Given the description of an element on the screen output the (x, y) to click on. 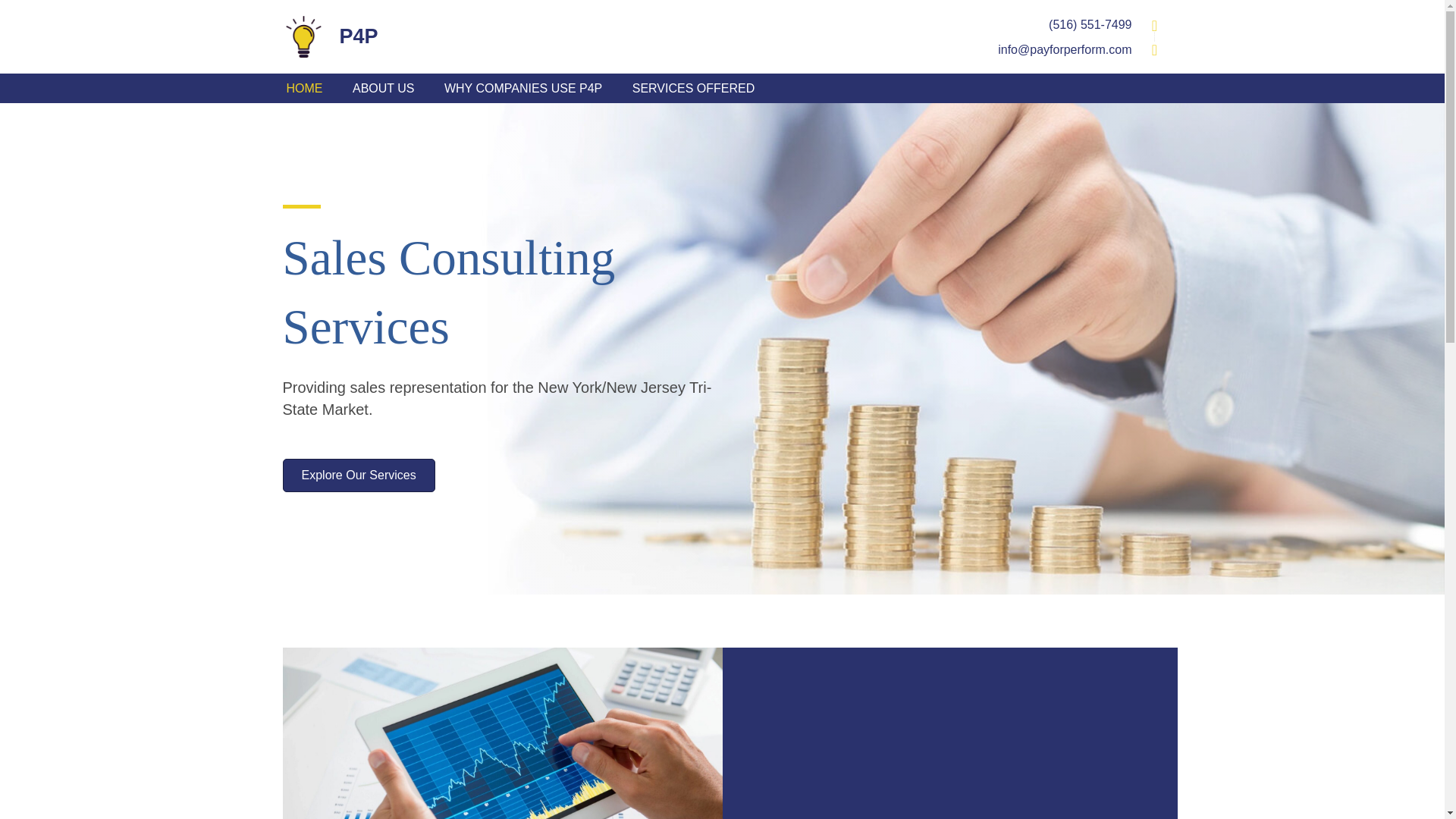
WHY COMPANIES USE P4P (522, 86)
Explore Our Services (399, 475)
ABOUT US (383, 86)
Page 2 (837, 49)
lightbulb (302, 36)
SERVICES OFFERED (694, 86)
Page 2 (837, 24)
HOME (304, 86)
